Given the description of an element on the screen output the (x, y) to click on. 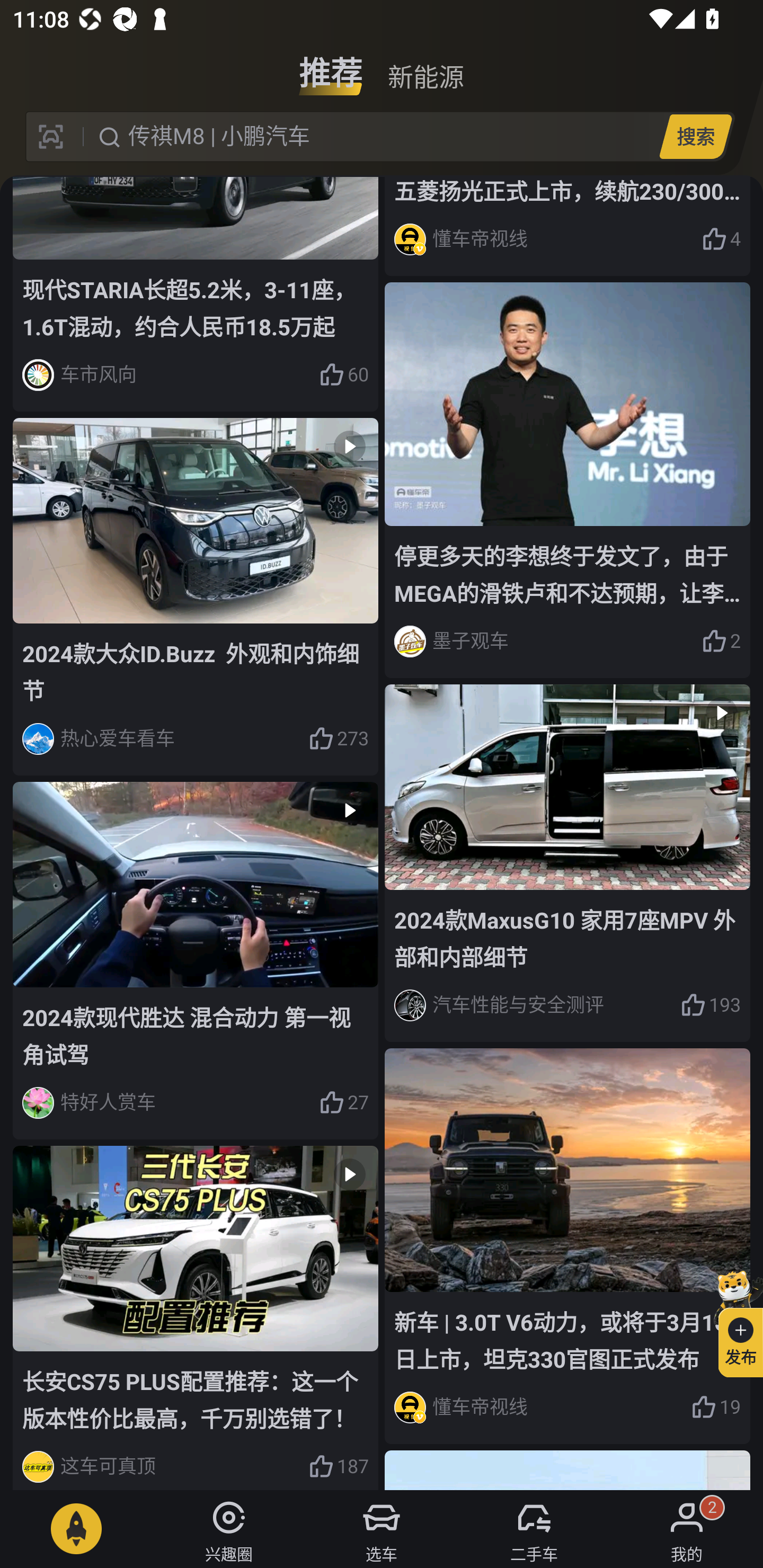
推荐 (330, 65)
新能源 (425, 65)
搜索 (695, 136)
现代STARIA长超5.2米，3-11座，1.6T混动，约合人民币18.5万起 车市风向 60 (195, 293)
 热榜第6名 新车 | 售7.18万元起，五菱扬光正式上市，续航230/300公里 懂车帝视线 4 (567, 226)
4 (720, 239)
60 (343, 374)
 2024款大众ID.Buzz  外观和内饰细节 热心爱车看车 273 (195, 597)
2 (720, 640)
 2024款MaxusG10 家用7座MPV 外部和内部细节 汽车性能与安全测评 193 (567, 862)
273 (338, 738)
 2024款现代胜达 混合动力 第一视角试驾 特好人赏车 27 (195, 960)
193 (710, 1004)
新车 | 3.0T V6动力，或将于3月16日上市，坦克330官图正式发布 懂车帝视线 19 (567, 1246)
27 (343, 1102)
 长安CS75 PLUS配置推荐：这一个版本性价比最高，千万别选错了！ 这车可真顶 187 (195, 1317)
发布 (732, 1321)
19 (715, 1406)
187 (338, 1465)
 兴趣圈 (228, 1528)
 选车 (381, 1528)
 二手车 (533, 1528)
 我的 (686, 1528)
